Given the description of an element on the screen output the (x, y) to click on. 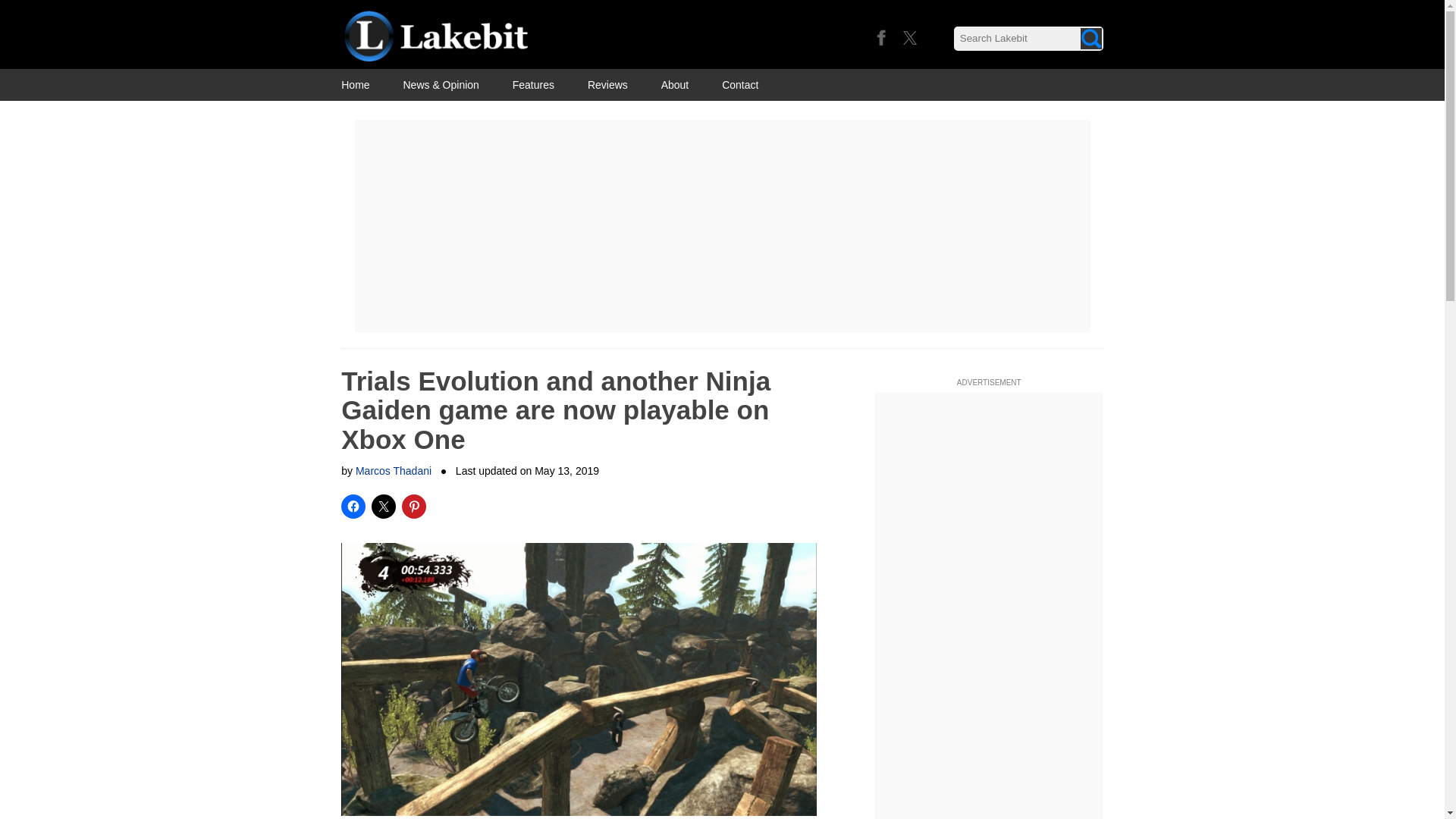
Contact (740, 84)
Click to share on X (383, 506)
Search (1091, 38)
Features (533, 84)
Click to share on Pinterest (413, 506)
Marcos Thadani (392, 470)
Reviews (607, 84)
Click to share on Facebook (352, 506)
